Given the description of an element on the screen output the (x, y) to click on. 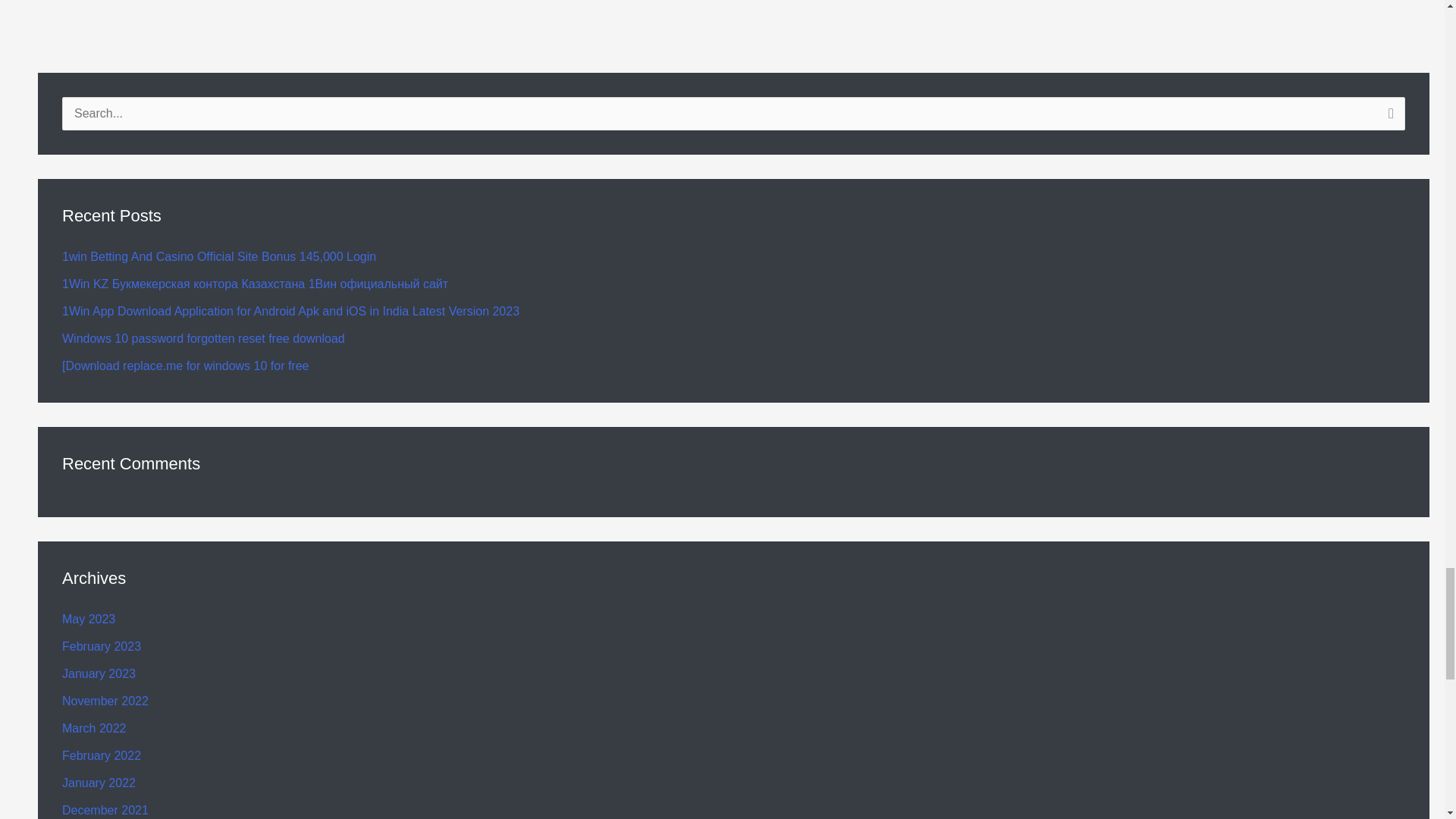
January 2023 (98, 673)
May 2023 (88, 618)
Search (1388, 118)
March 2022 (94, 727)
Windows 10 password forgotten reset free download (203, 338)
Search (1388, 118)
February 2023 (101, 645)
1win Betting And Casino Official Site Bonus 145,000 Login (218, 256)
Search (1388, 118)
November 2022 (105, 700)
